Given the description of an element on the screen output the (x, y) to click on. 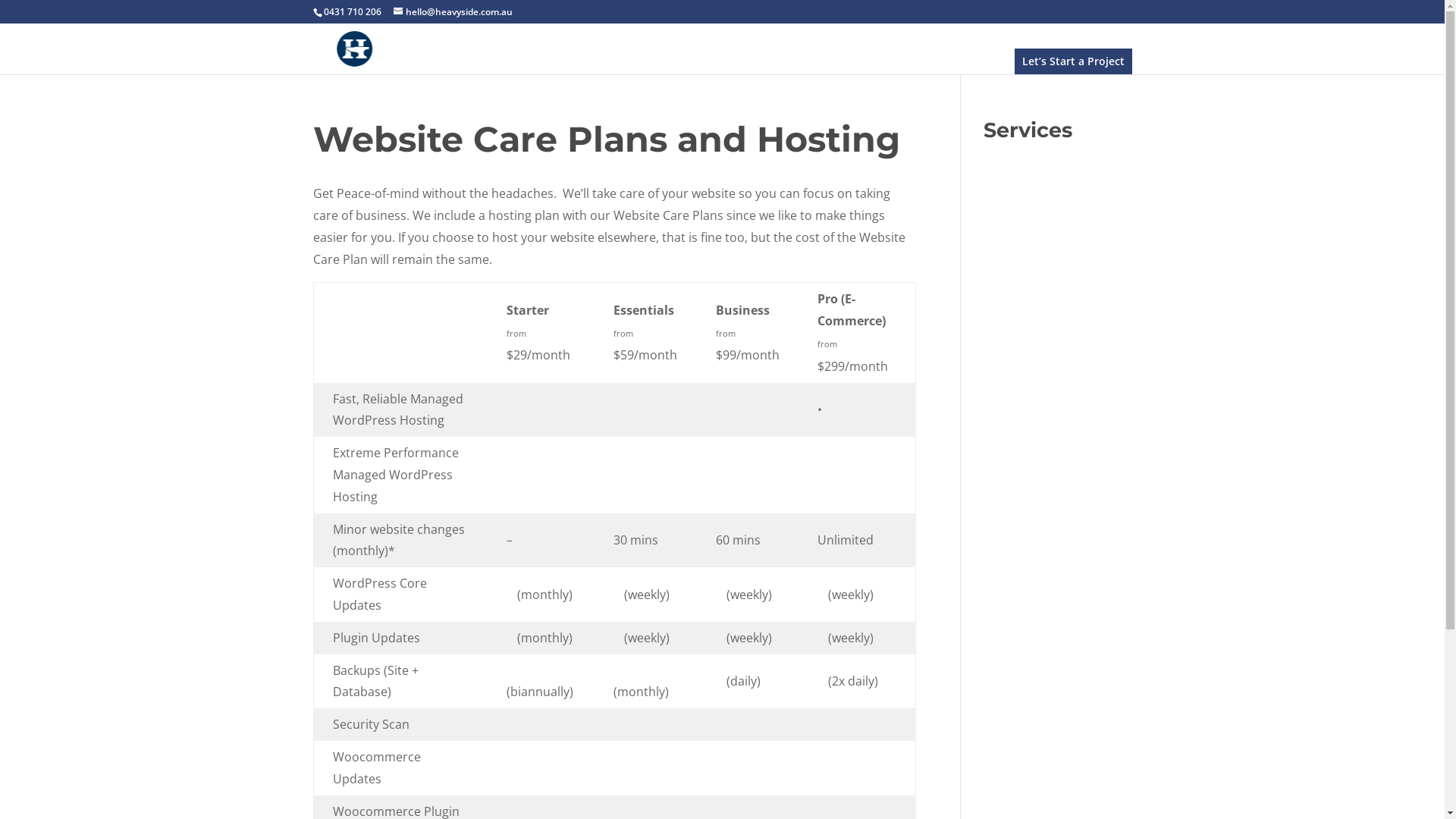
Heavyside Digital Development Element type: text (353, 47)
hello@heavyside.com.au Element type: text (451, 11)
